Given the description of an element on the screen output the (x, y) to click on. 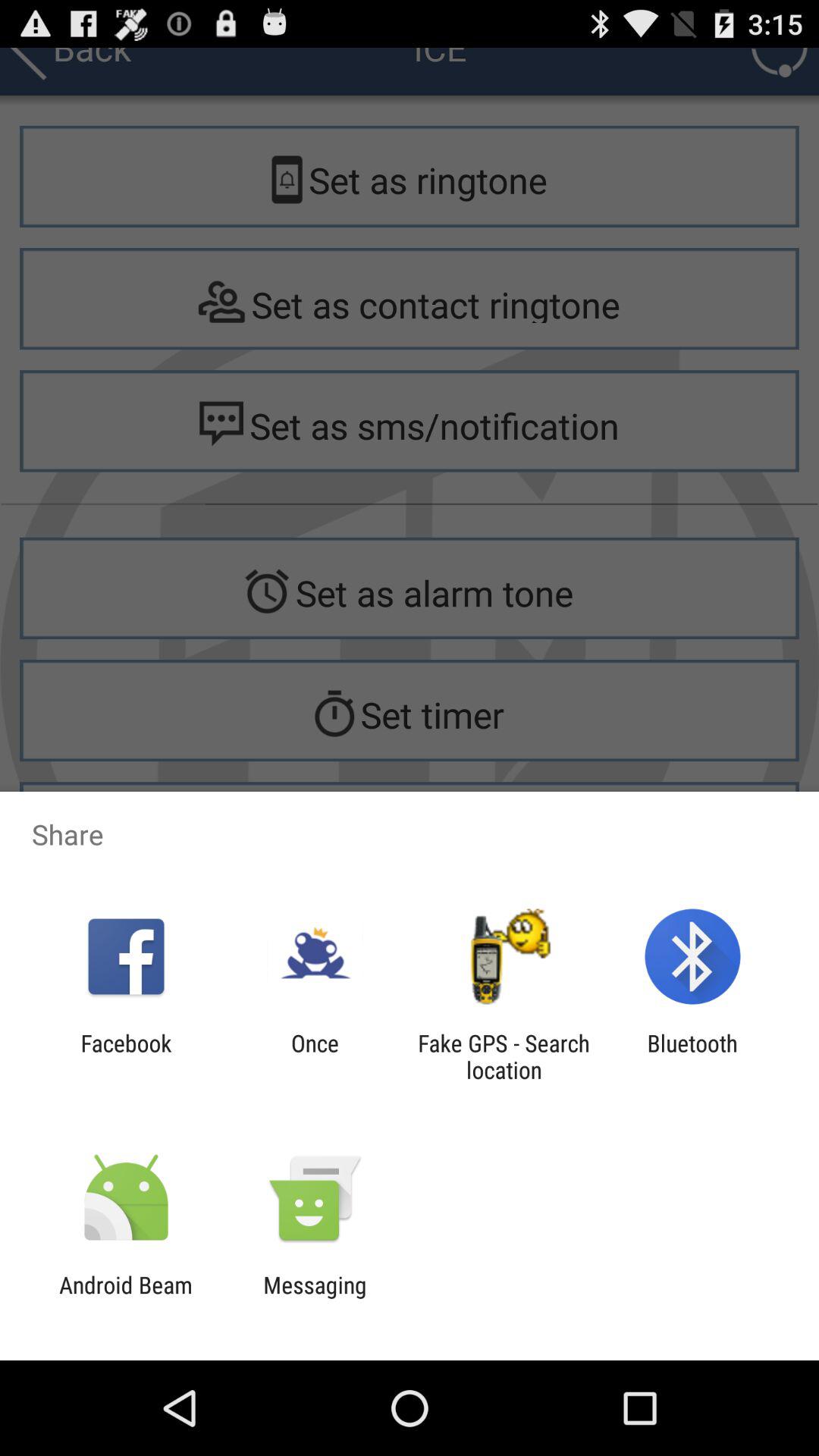
press the messaging (314, 1298)
